Given the description of an element on the screen output the (x, y) to click on. 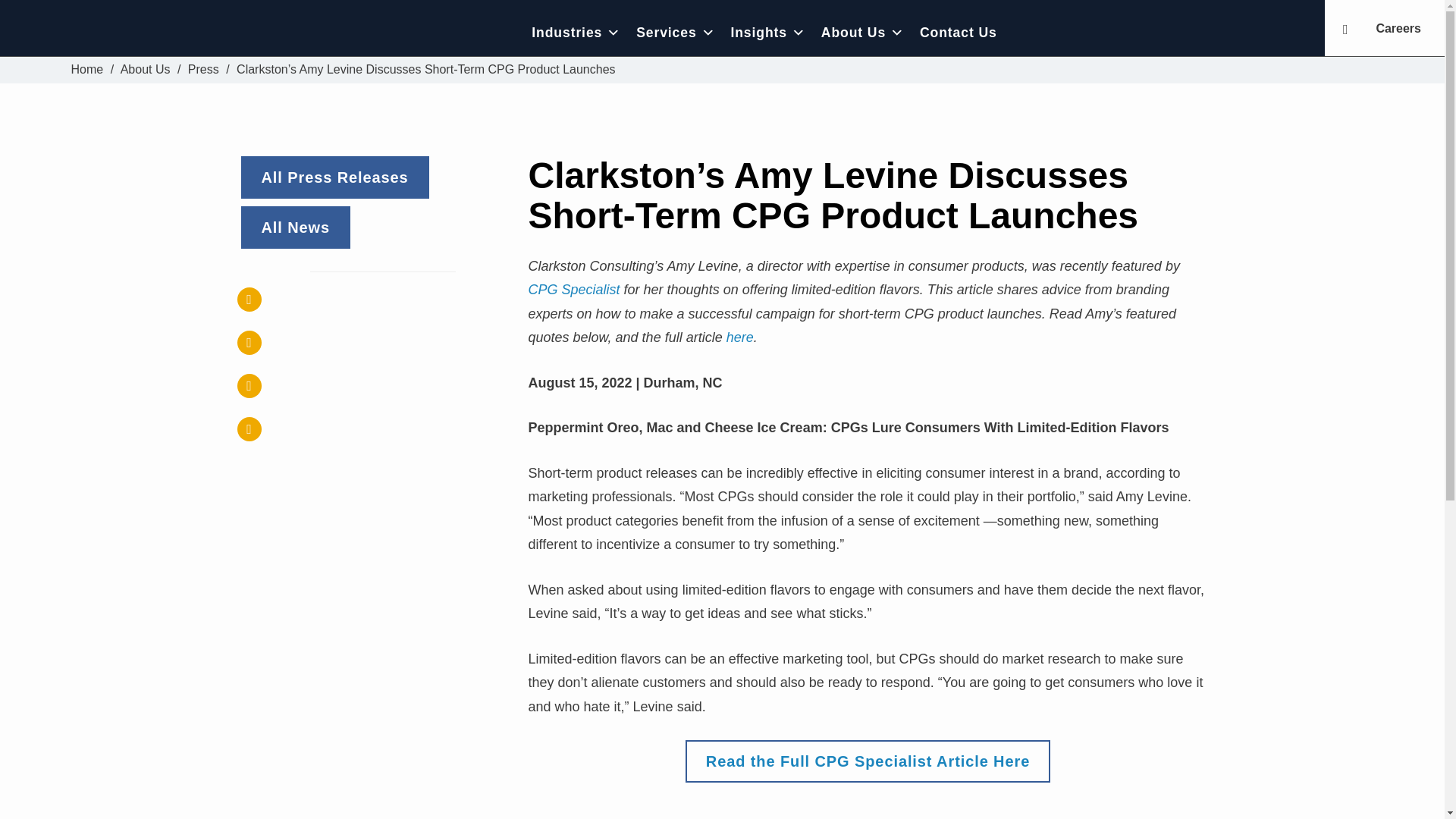
About Us (145, 69)
Services (675, 32)
Press (203, 69)
Clarkston Consulting (176, 31)
Clarkston Consulting (87, 69)
Industries (576, 32)
